Given the description of an element on the screen output the (x, y) to click on. 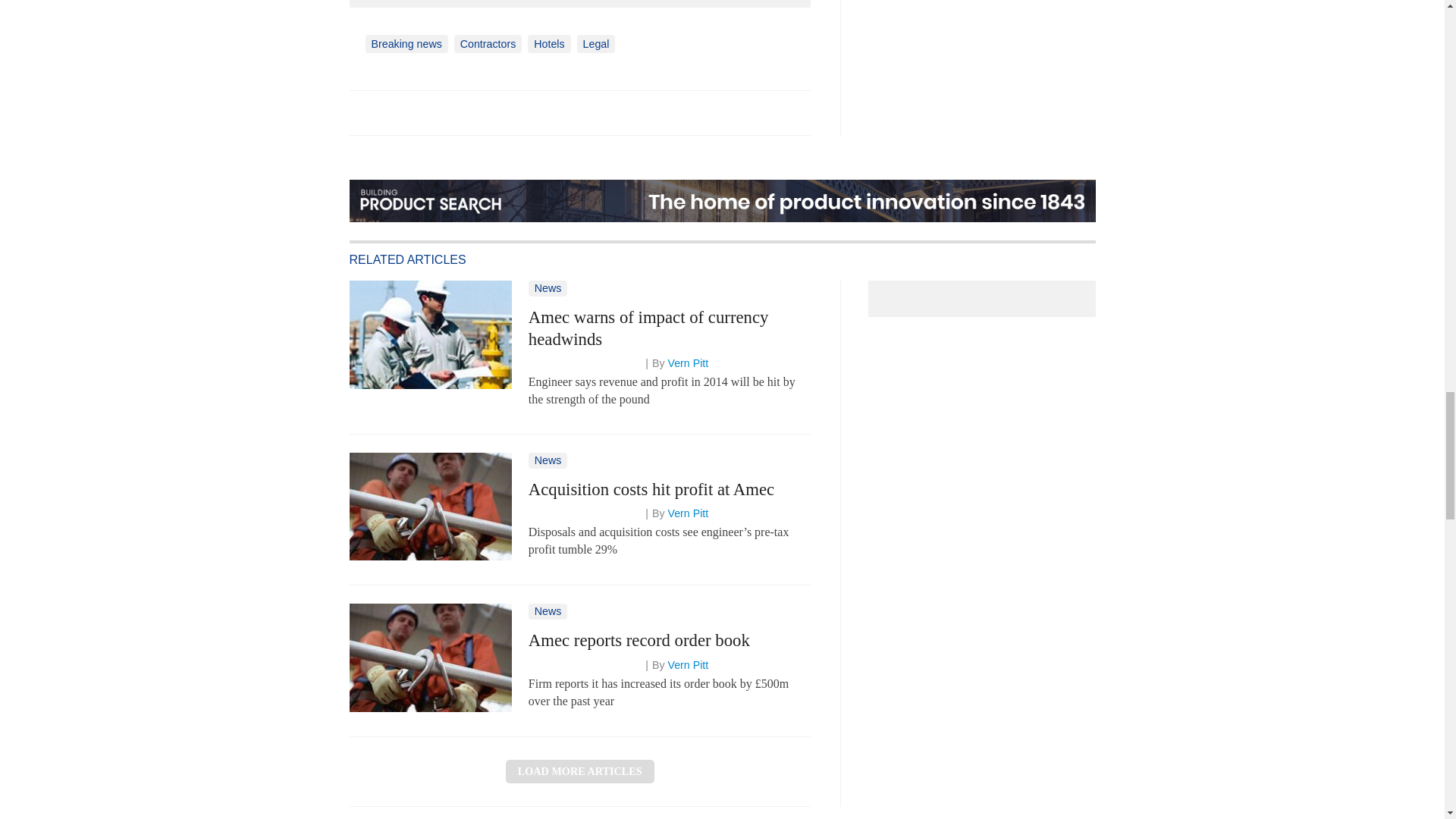
Share this on Twitter (395, 112)
Email this article (460, 112)
Share this on Linked in (427, 112)
Share this on Facebook (362, 112)
No comments (786, 120)
